Given the description of an element on the screen output the (x, y) to click on. 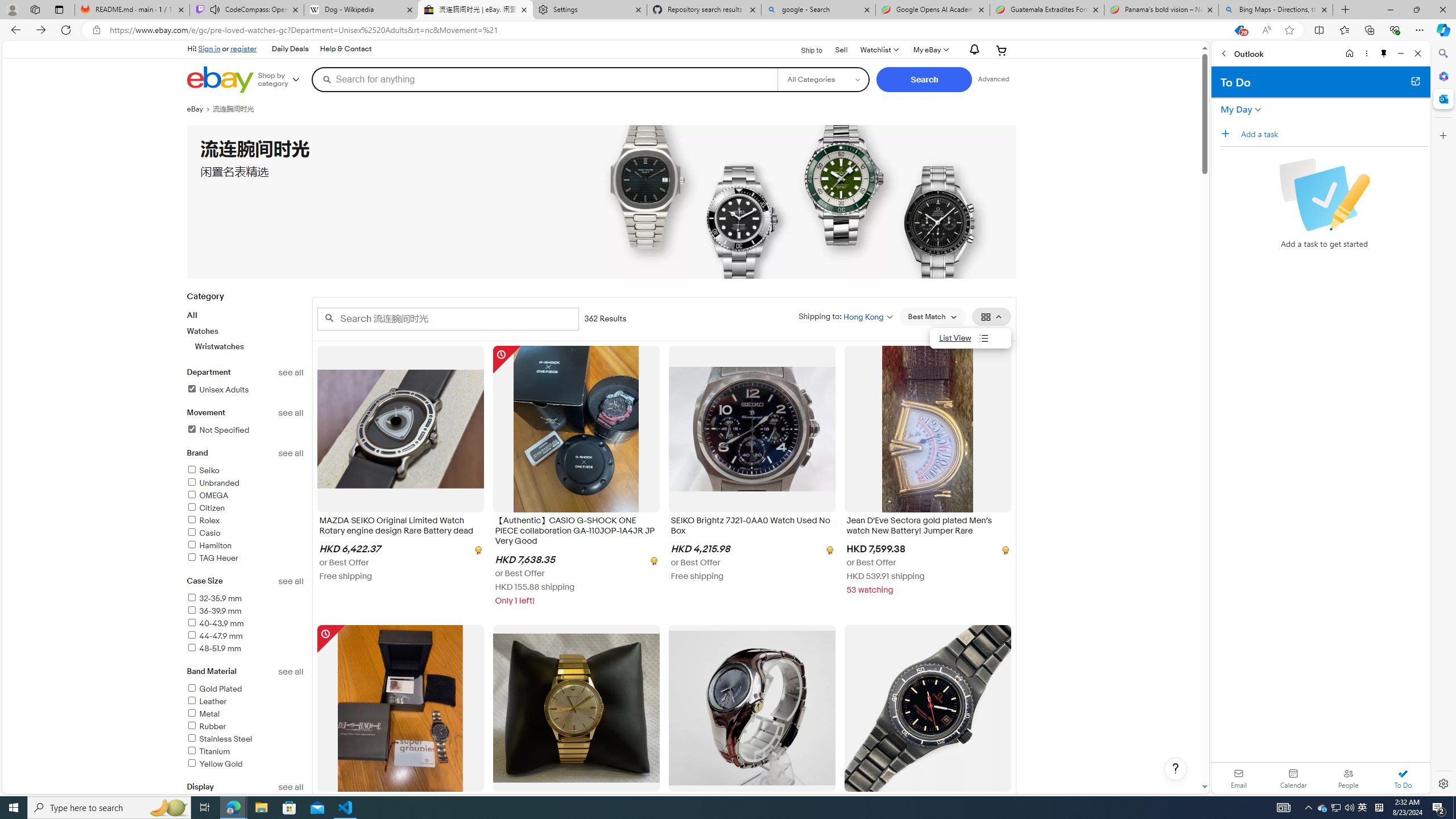
Citizen (245, 508)
CategoryAllWatchesWristwatches (245, 327)
[object Undefined] (1004, 550)
This site has coupons! Shopping in Microsoft Edge, 20 (1239, 29)
Help, opens dialogs (1175, 768)
To Do (1402, 777)
register (243, 48)
Close Outlook pane (1442, 98)
All (192, 315)
Not Specified Filter Applied (217, 429)
Add a task (1228, 133)
